Given the description of an element on the screen output the (x, y) to click on. 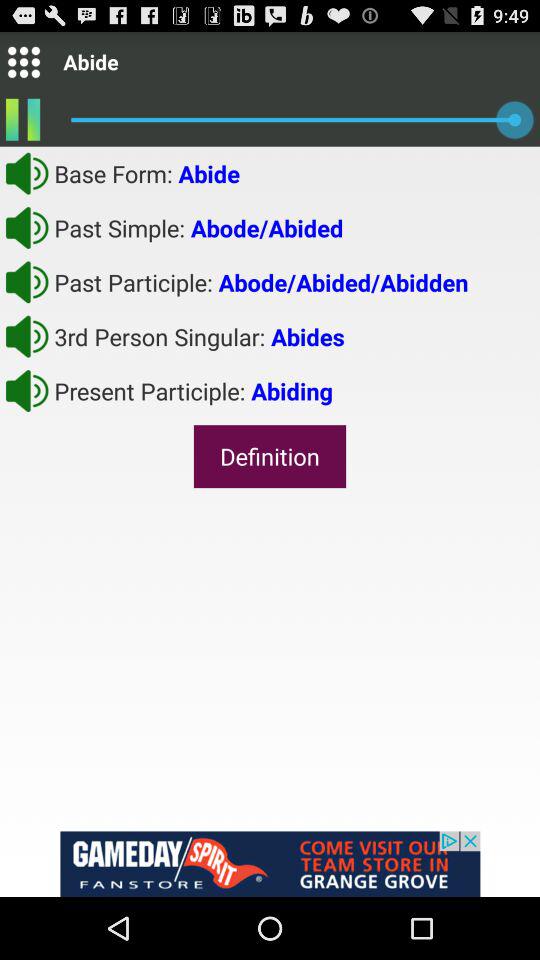
advertisement (270, 864)
